Given the description of an element on the screen output the (x, y) to click on. 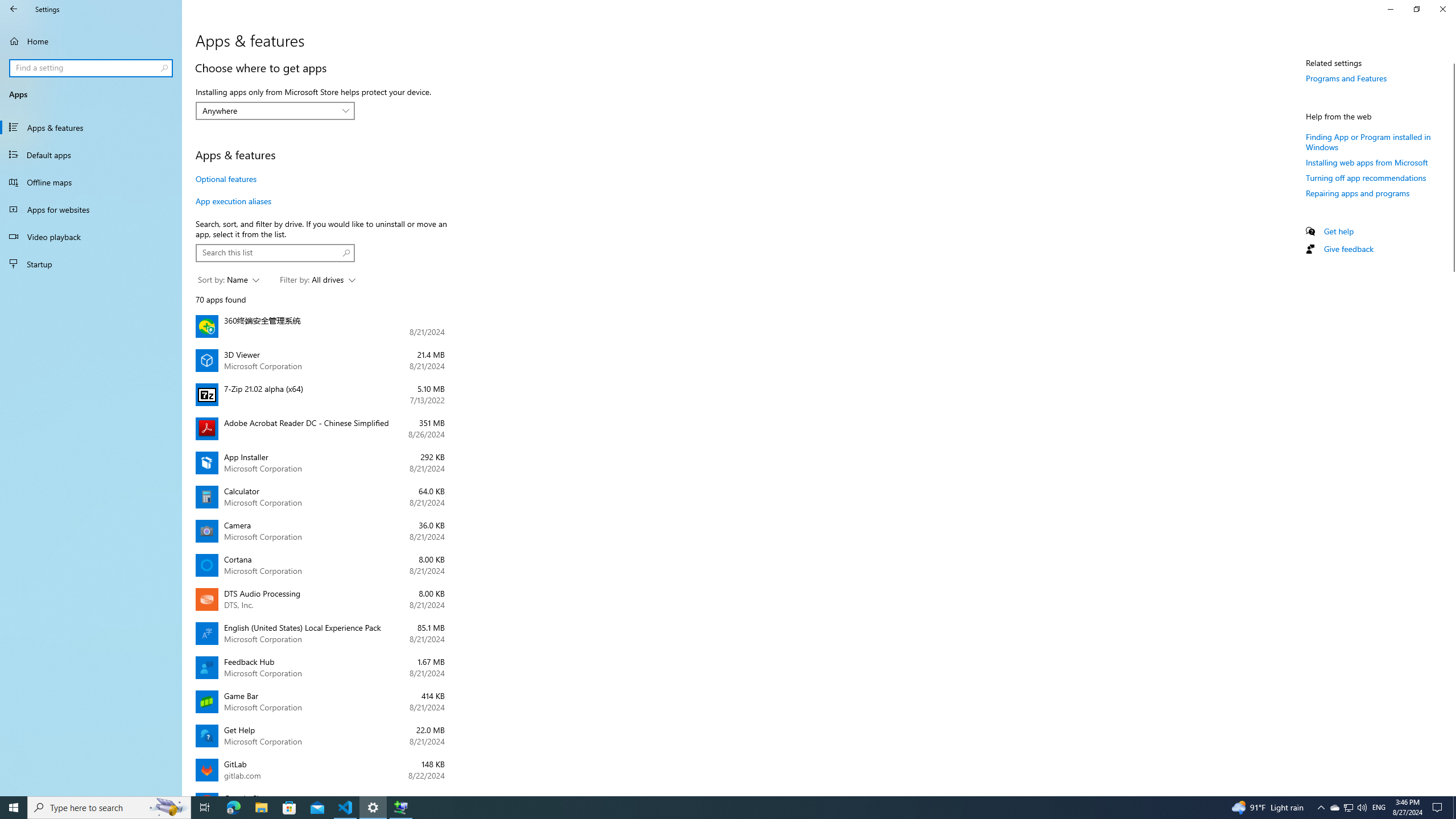
Visual Studio Code - 1 running window (345, 807)
Q2790: 100% (1361, 807)
Minimize Settings (1390, 9)
Home (91, 40)
Microsoft Store (289, 807)
Restore Settings (1416, 9)
Search box, Search this list (275, 253)
Settings - 1 running window (373, 807)
